Given the description of an element on the screen output the (x, y) to click on. 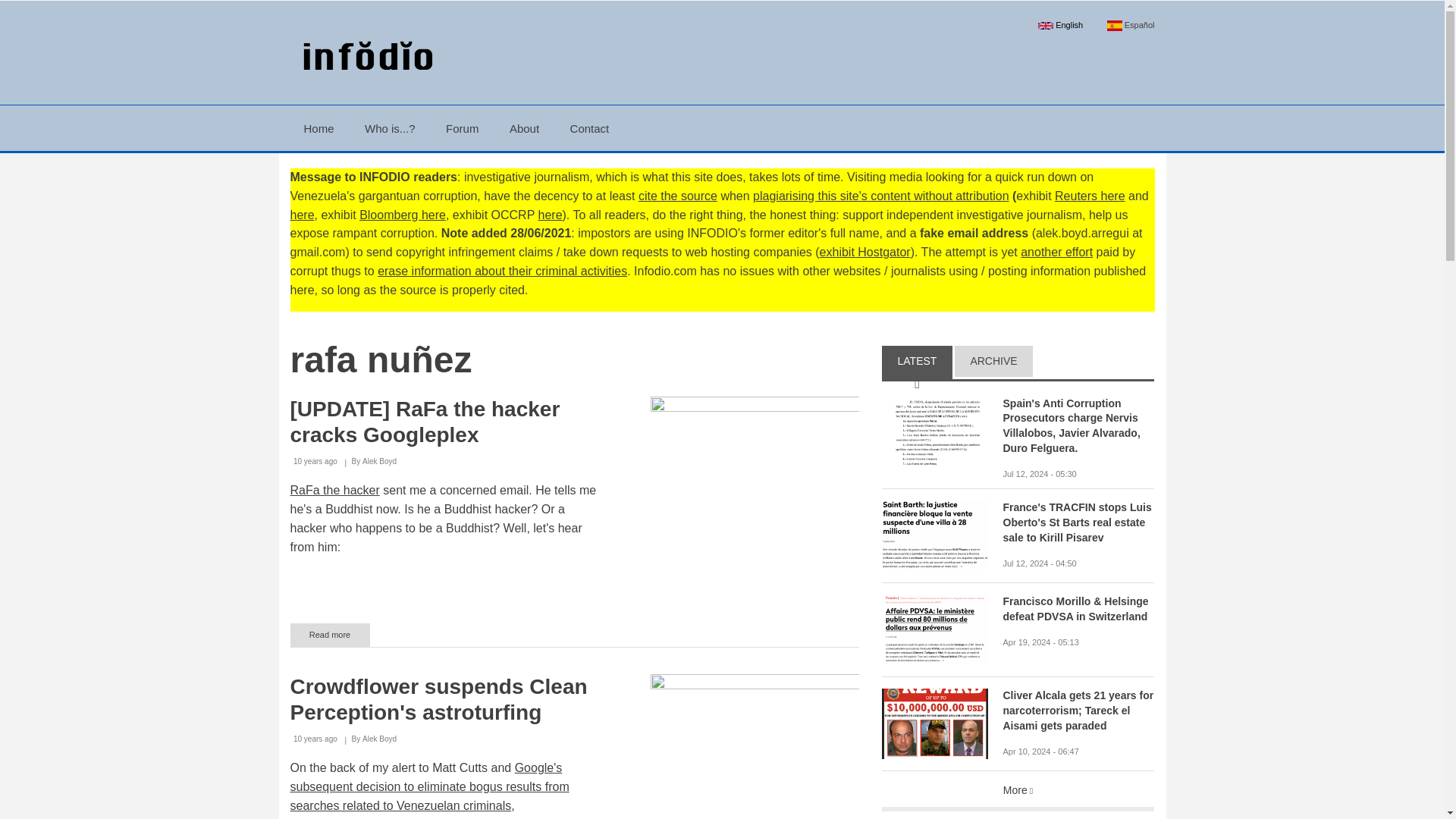
erase information about their criminal activities (502, 270)
About (524, 127)
Home (363, 56)
here (301, 214)
plagiarising this site's content without attribution (880, 195)
another effort (1056, 251)
here (550, 214)
exhibit Hostgator (865, 251)
Contact (589, 127)
English (1061, 24)
cite the source (678, 195)
Cliver Alcala. (933, 723)
Forum (462, 127)
